Given the description of an element on the screen output the (x, y) to click on. 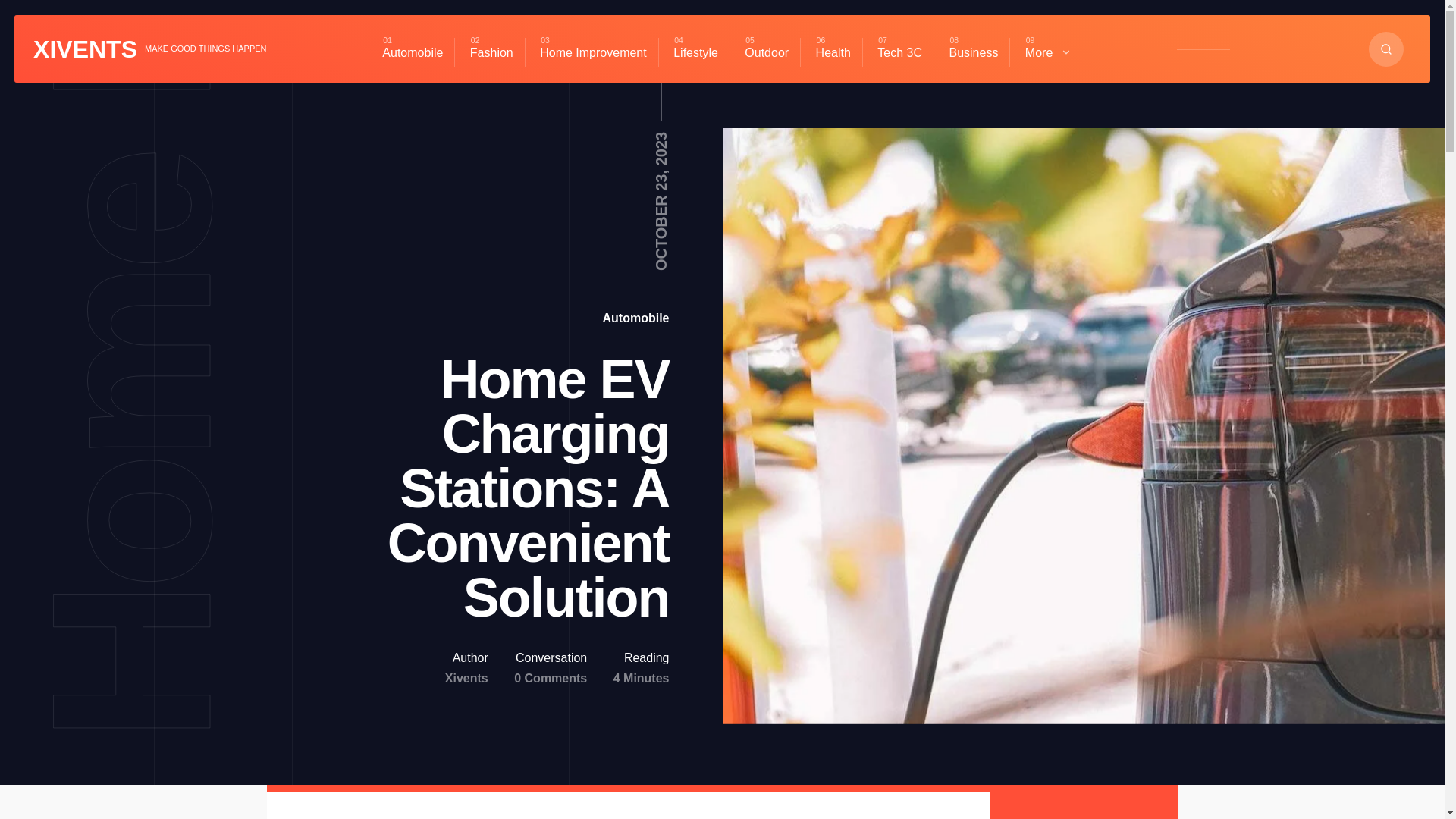
0 Comments (549, 677)
Automobile (635, 318)
Home Improvement (593, 52)
Fashion (491, 52)
Lifestyle (695, 52)
Business (973, 52)
XIVENTS (84, 49)
More (1048, 52)
Xivents (466, 677)
Outdoor (766, 52)
